Given the description of an element on the screen output the (x, y) to click on. 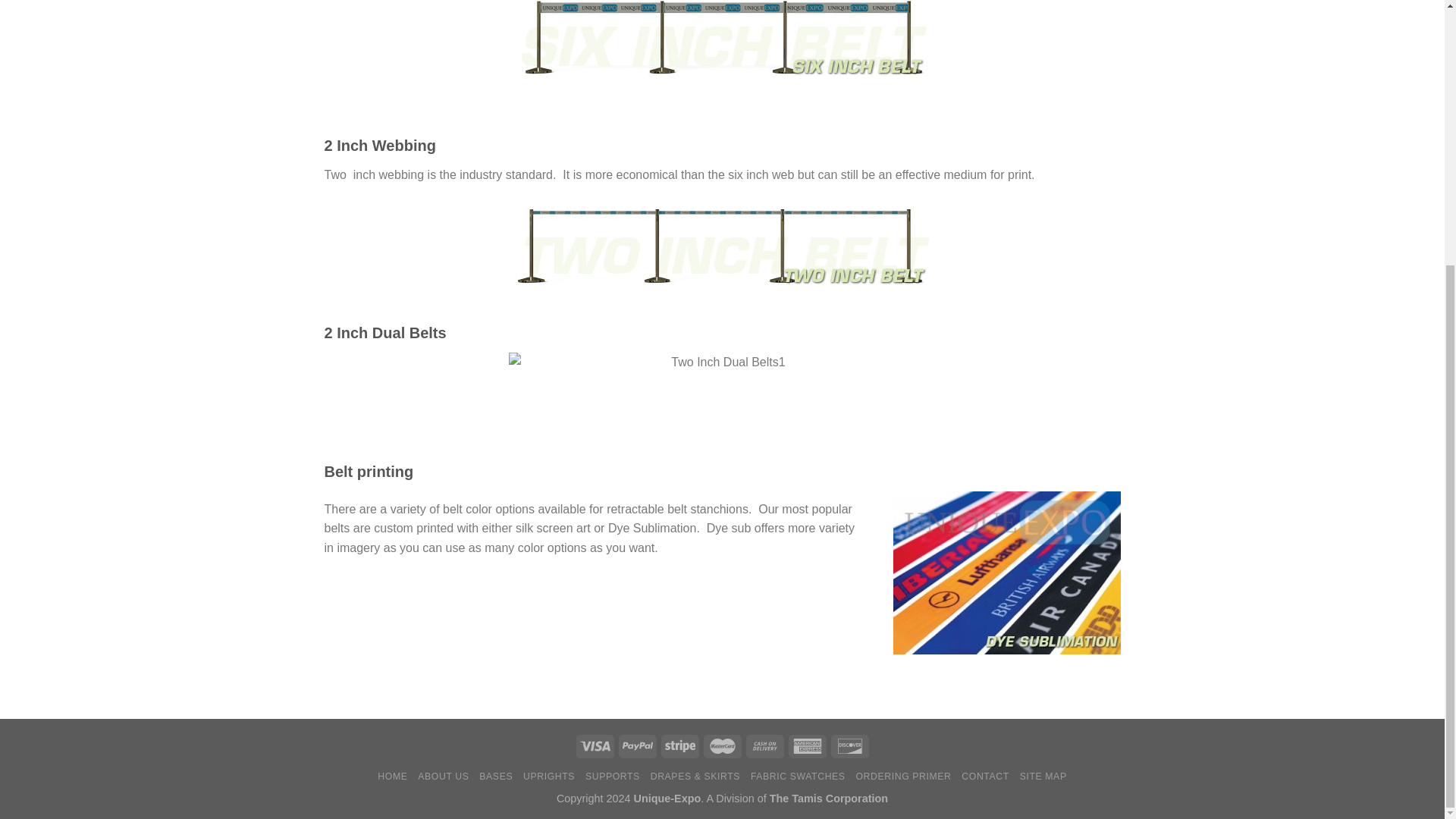
Two-Inch-Dual-Belts (722, 397)
Six-Inch-Stanchion (722, 41)
Unique Expo Site Map (1043, 776)
Two-Inch-Belt (722, 245)
Dyesubbelts (1007, 572)
